Given the description of an element on the screen output the (x, y) to click on. 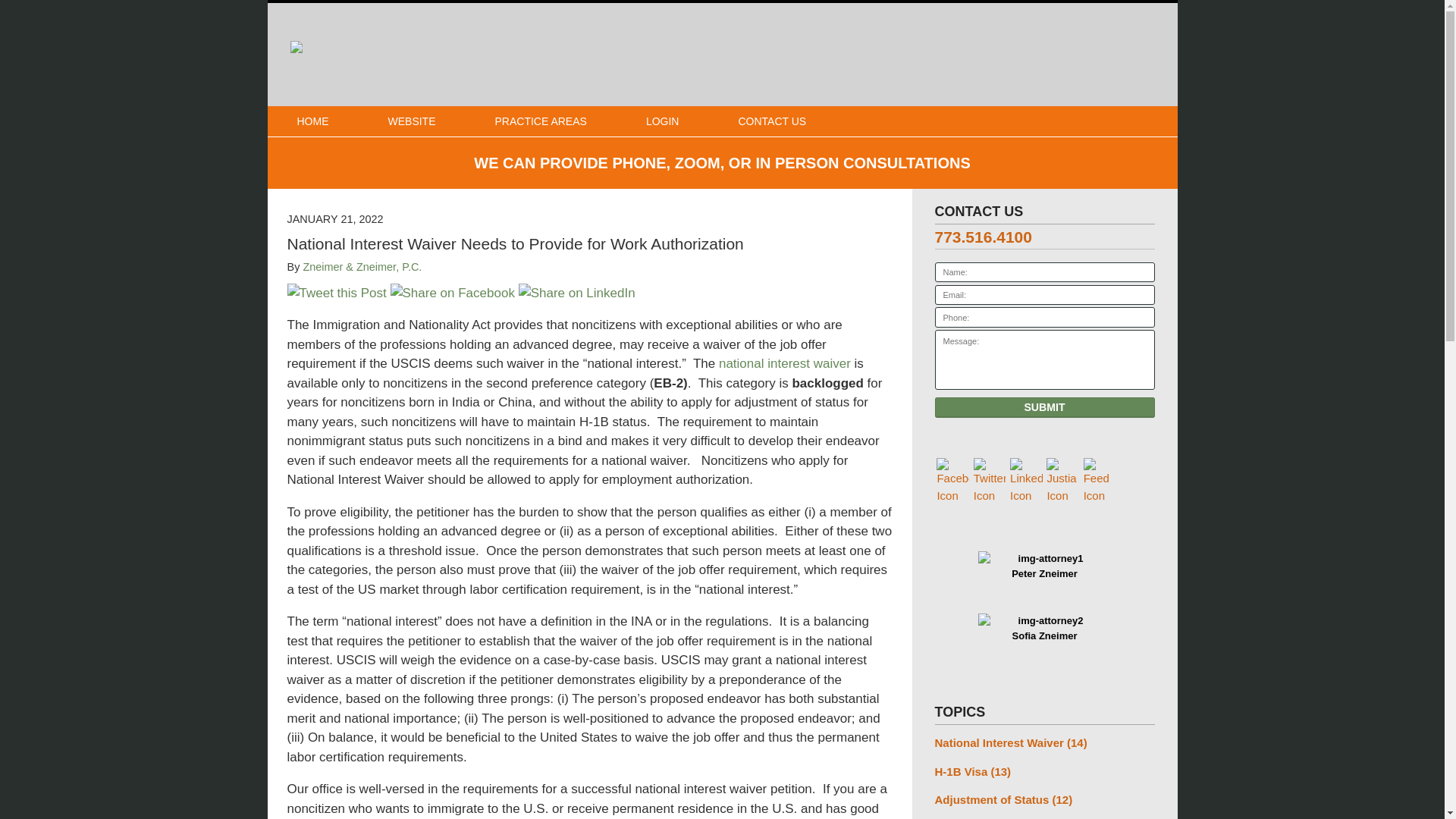
WEBSITE (411, 121)
PRACTICE AREAS (540, 121)
Sofia Zneimer (1044, 622)
LOGIN (662, 121)
national interest waiver (784, 363)
Please enter a valid phone number. (1044, 316)
HOME (312, 121)
Peter Zneimer (1044, 560)
WE CAN PROVIDE PHONE, ZOOM, OR IN PERSON CONSULTATIONS (721, 162)
SUBMIT (1044, 407)
CONTACT US (771, 121)
Chicago Immigration Lawyer Blog (515, 53)
